Given the description of an element on the screen output the (x, y) to click on. 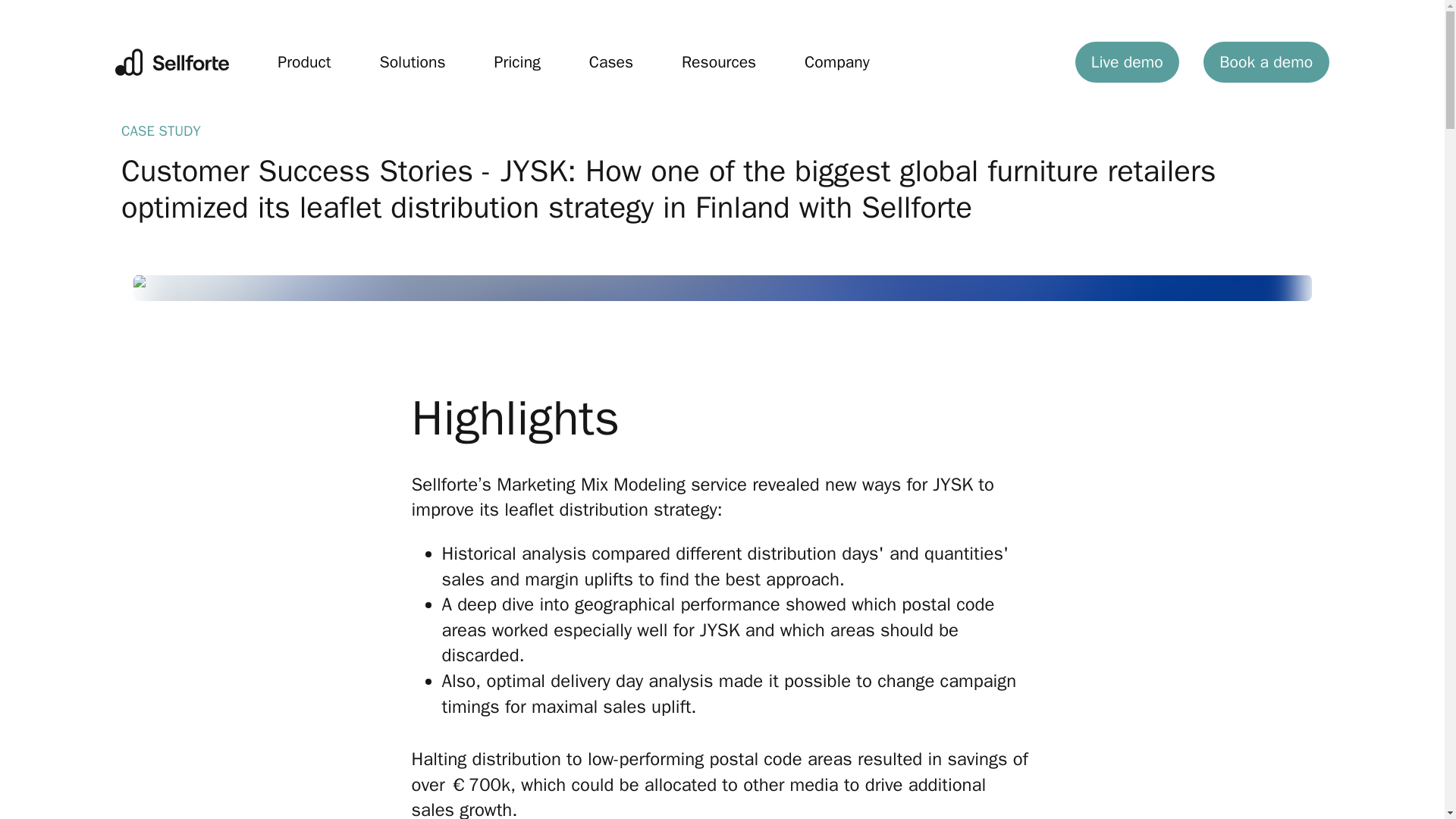
Cases (611, 61)
Live demo (1127, 61)
Pricing (517, 61)
Book a demo (1266, 61)
